Given the description of an element on the screen output the (x, y) to click on. 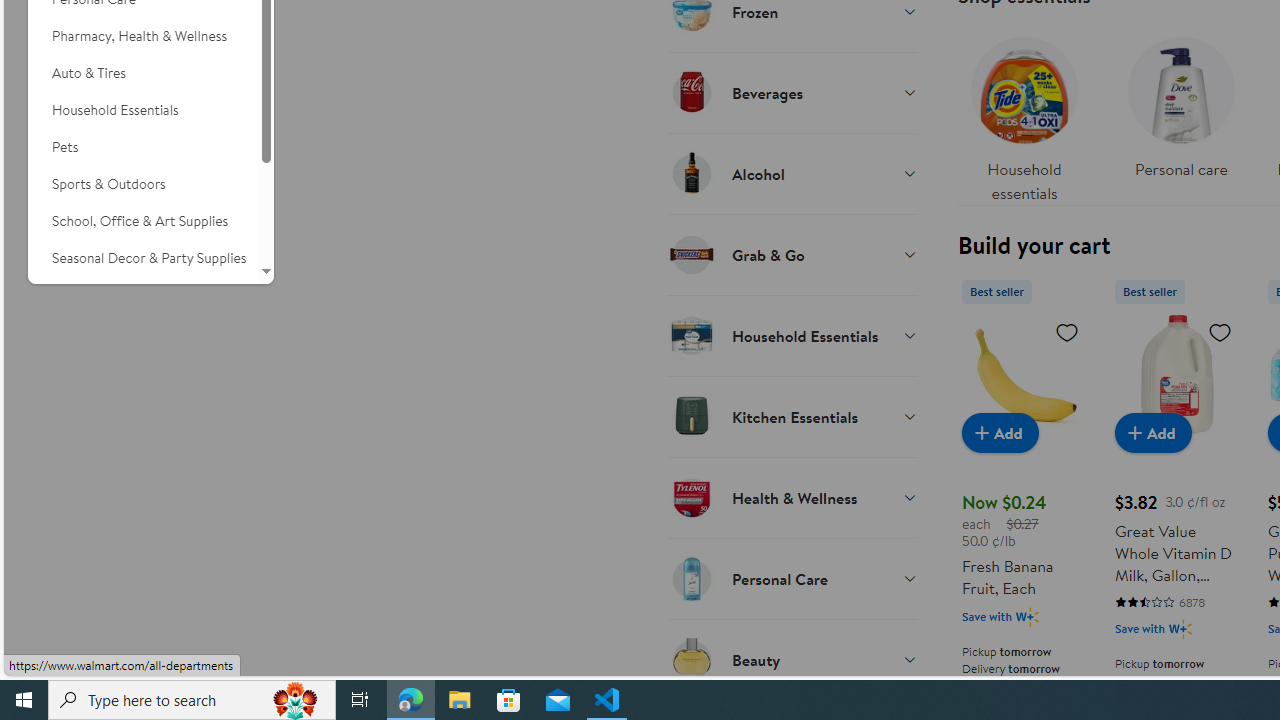
Walmart Plus (1179, 628)
Personal care (1180, 114)
Personal care (1180, 101)
Movies, Music & Books (143, 295)
Movies, Music & Books (143, 295)
School, Office & Art Supplies (143, 221)
Household Essentials (792, 335)
Pets (143, 147)
Kitchen Essentials (792, 416)
Seasonal Decor & Party Supplies (143, 258)
